Given the description of an element on the screen output the (x, y) to click on. 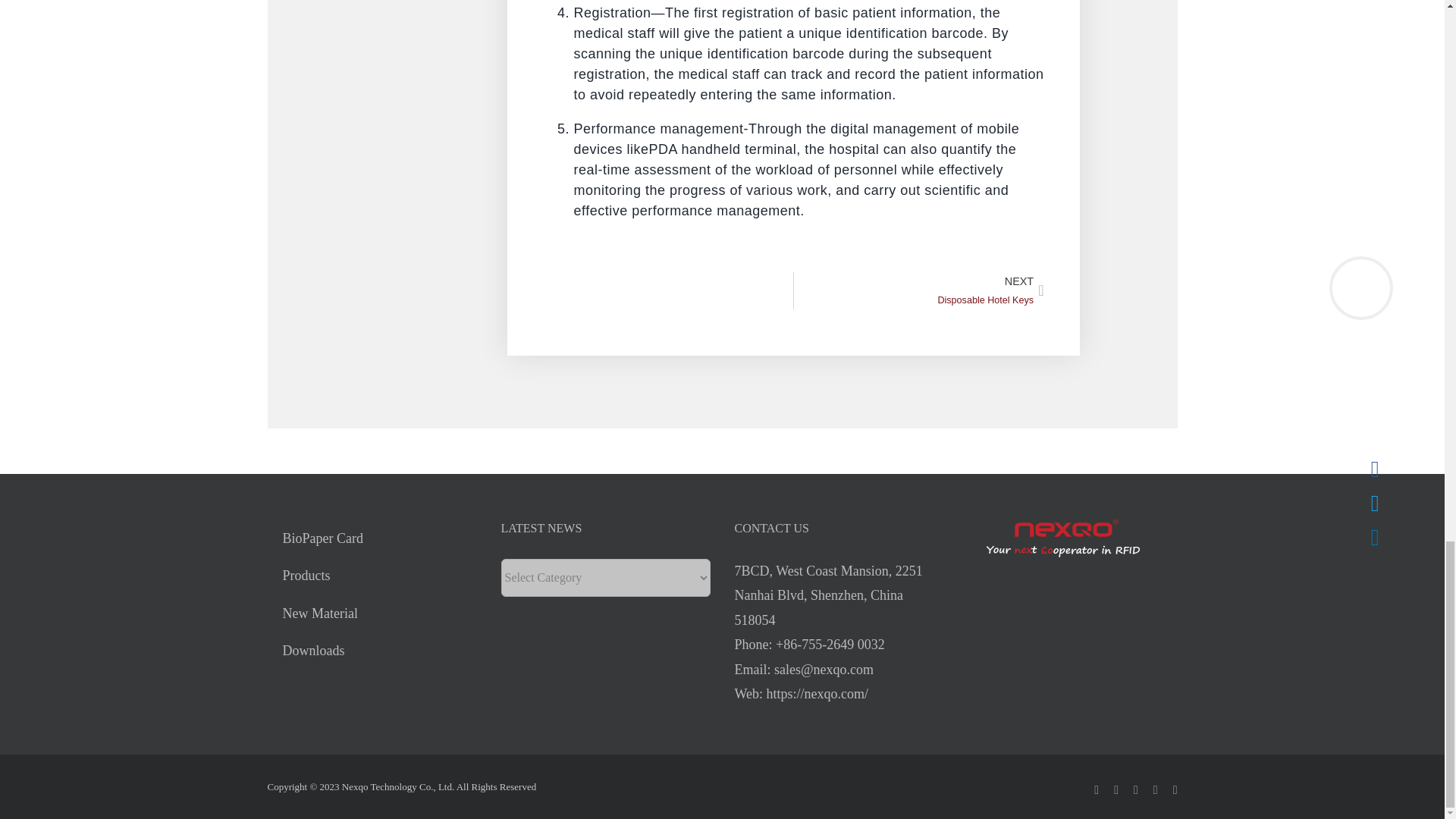
Email (1175, 789)
BioPaper Card (371, 538)
LinkedIn (1136, 789)
Downloads (371, 650)
New Material (918, 290)
YouTube (371, 613)
Twitter (1155, 789)
Products (1115, 789)
Facebook (371, 575)
